Given the description of an element on the screen output the (x, y) to click on. 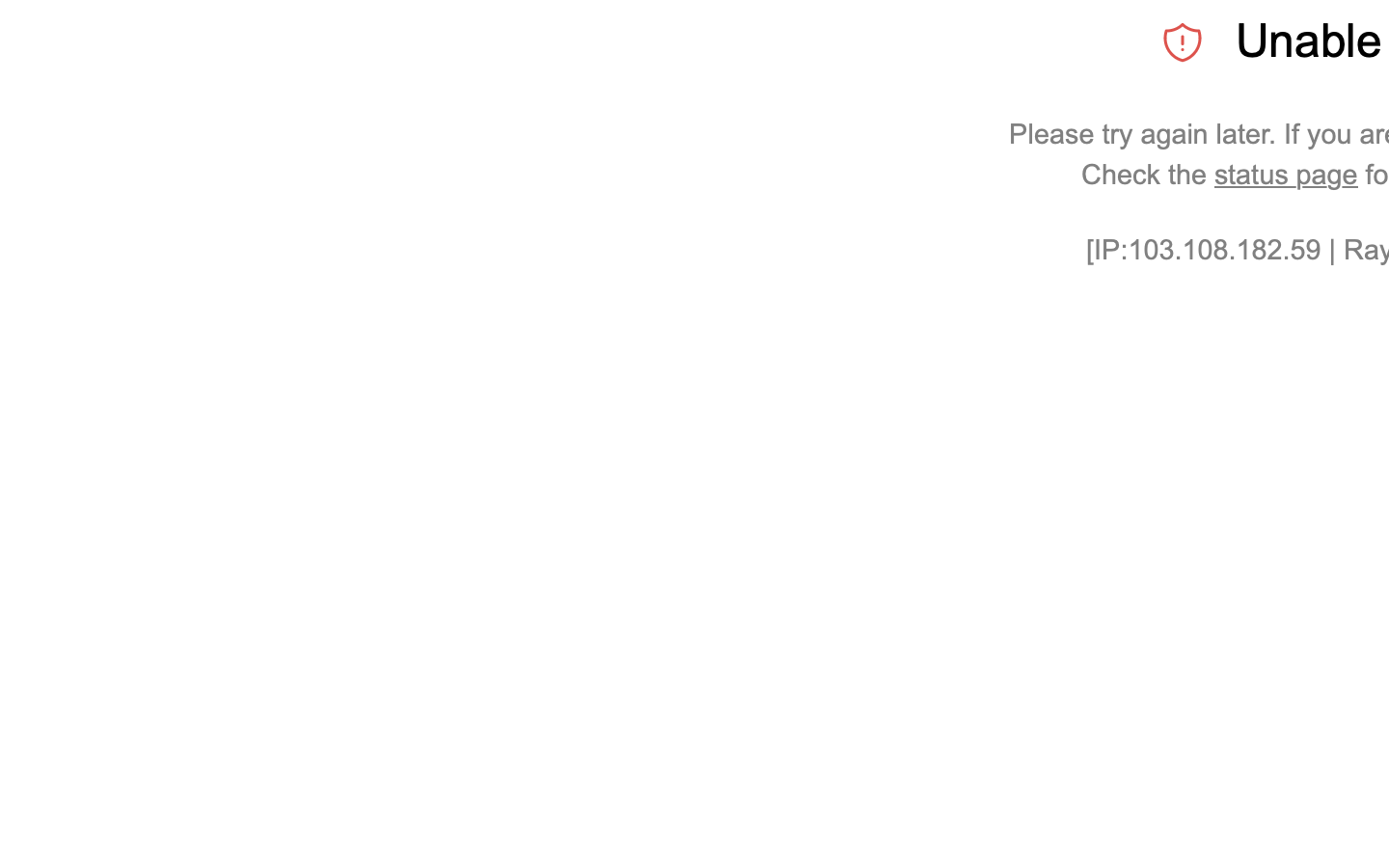
status page Element type: AXStaticText (1285, 174)
